Given the description of an element on the screen output the (x, y) to click on. 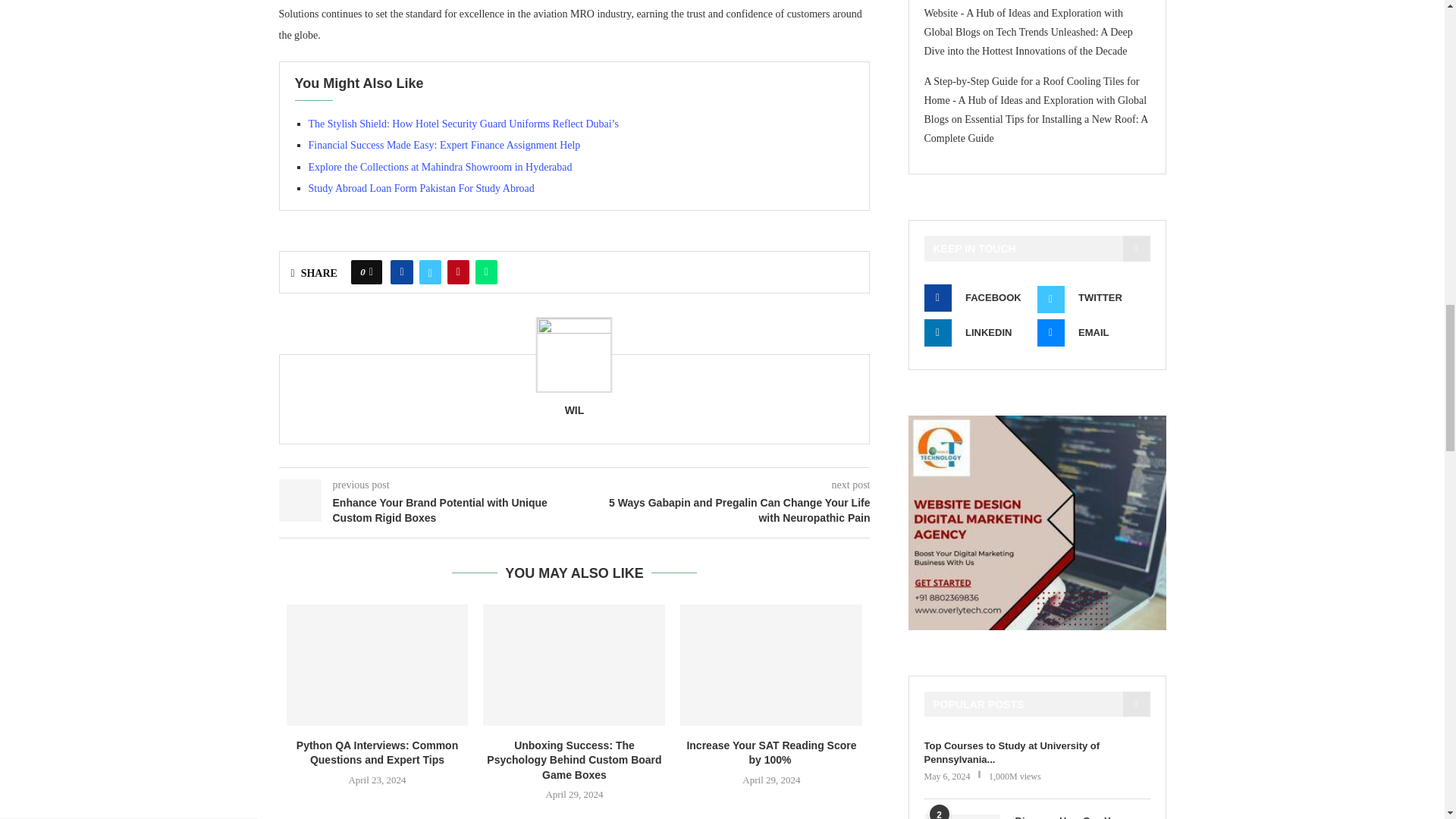
Python QA Interviews: Common Questions and Expert Tips (377, 664)
Author wil (574, 410)
Top Courses to Study at University of Pennsylvania in 2024 (1036, 752)
